Given the description of an element on the screen output the (x, y) to click on. 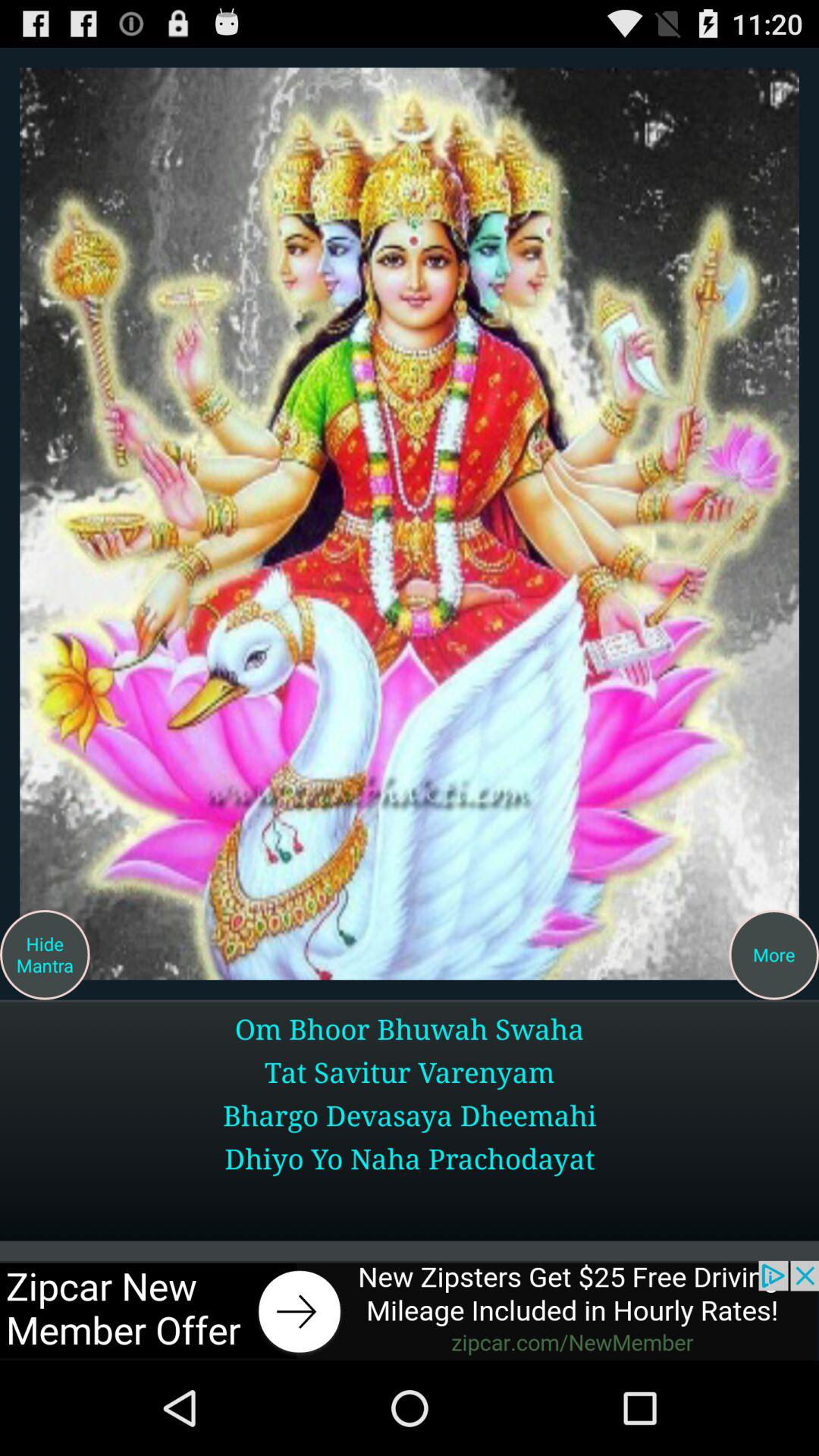
add the option (409, 1310)
